Given the description of an element on the screen output the (x, y) to click on. 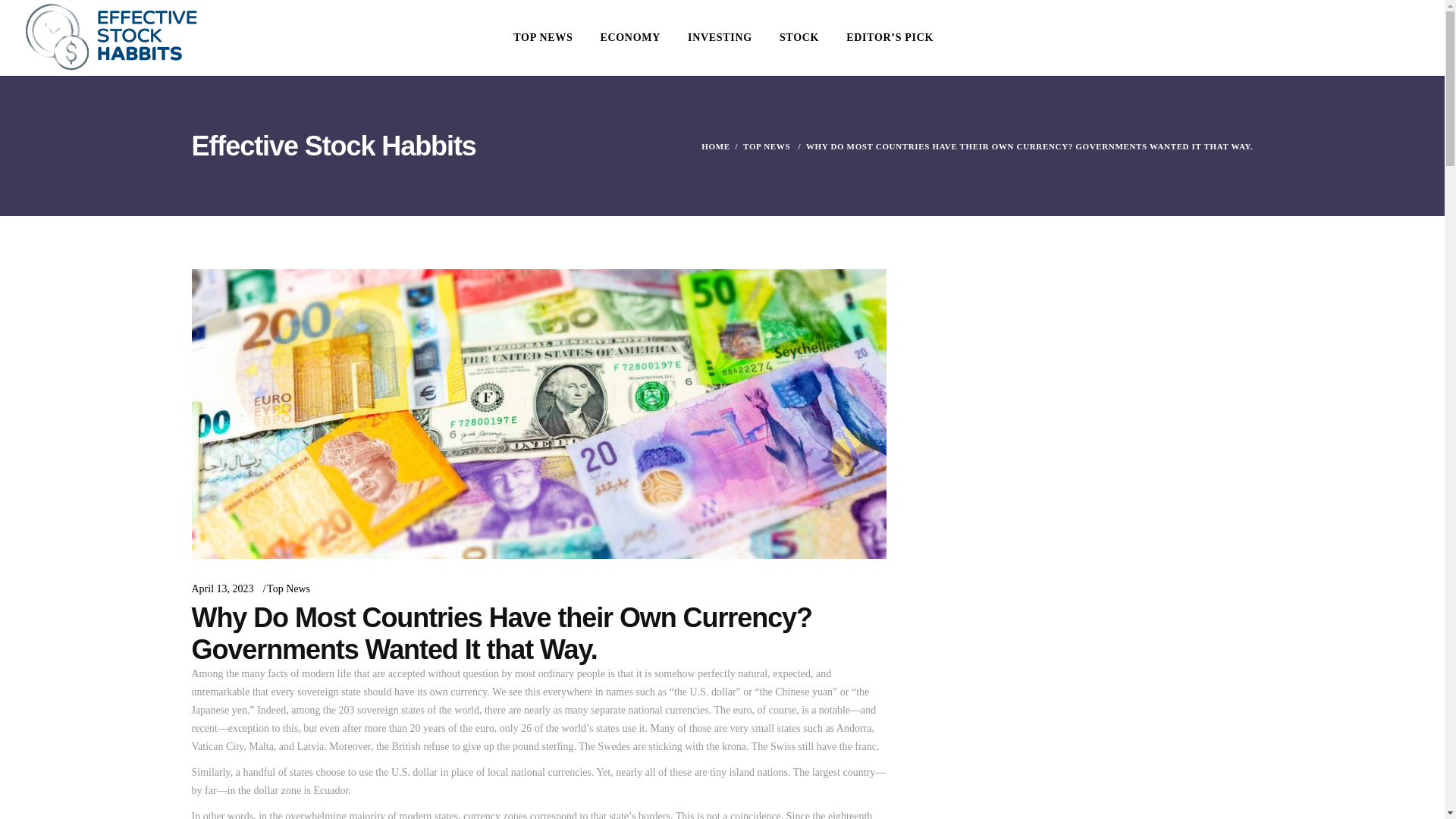
TOP NEWS (766, 146)
Top News (288, 588)
April 13, 2023 (221, 588)
STOCK (798, 38)
HOME (715, 146)
INVESTING (719, 38)
ECONOMY (630, 38)
TOP NEWS (542, 38)
